Given the description of an element on the screen output the (x, y) to click on. 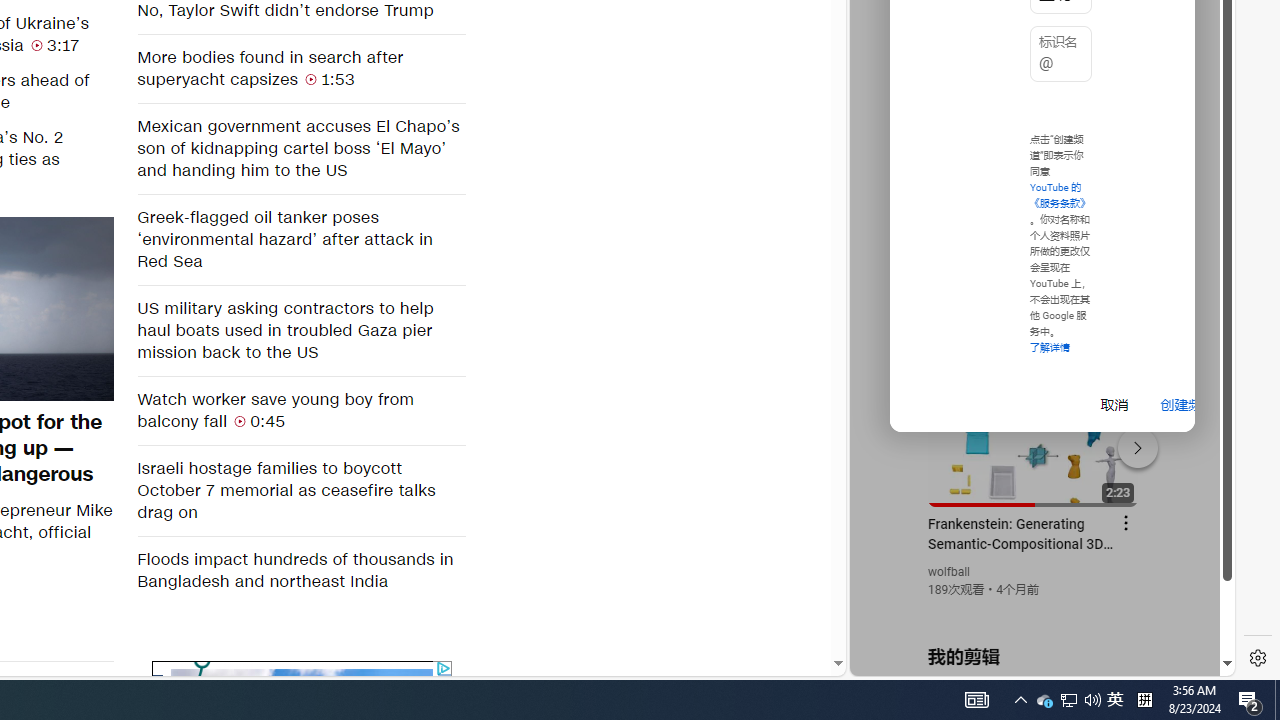
AutomationID: brandFlyLogo (302, 676)
Class: dict_pnIcon rms_img (1028, 660)
Click to scroll right (1196, 83)
More bodies found in search after superyacht capsizes 1:53 (300, 68)
Global web icon (888, 432)
